Given the description of an element on the screen output the (x, y) to click on. 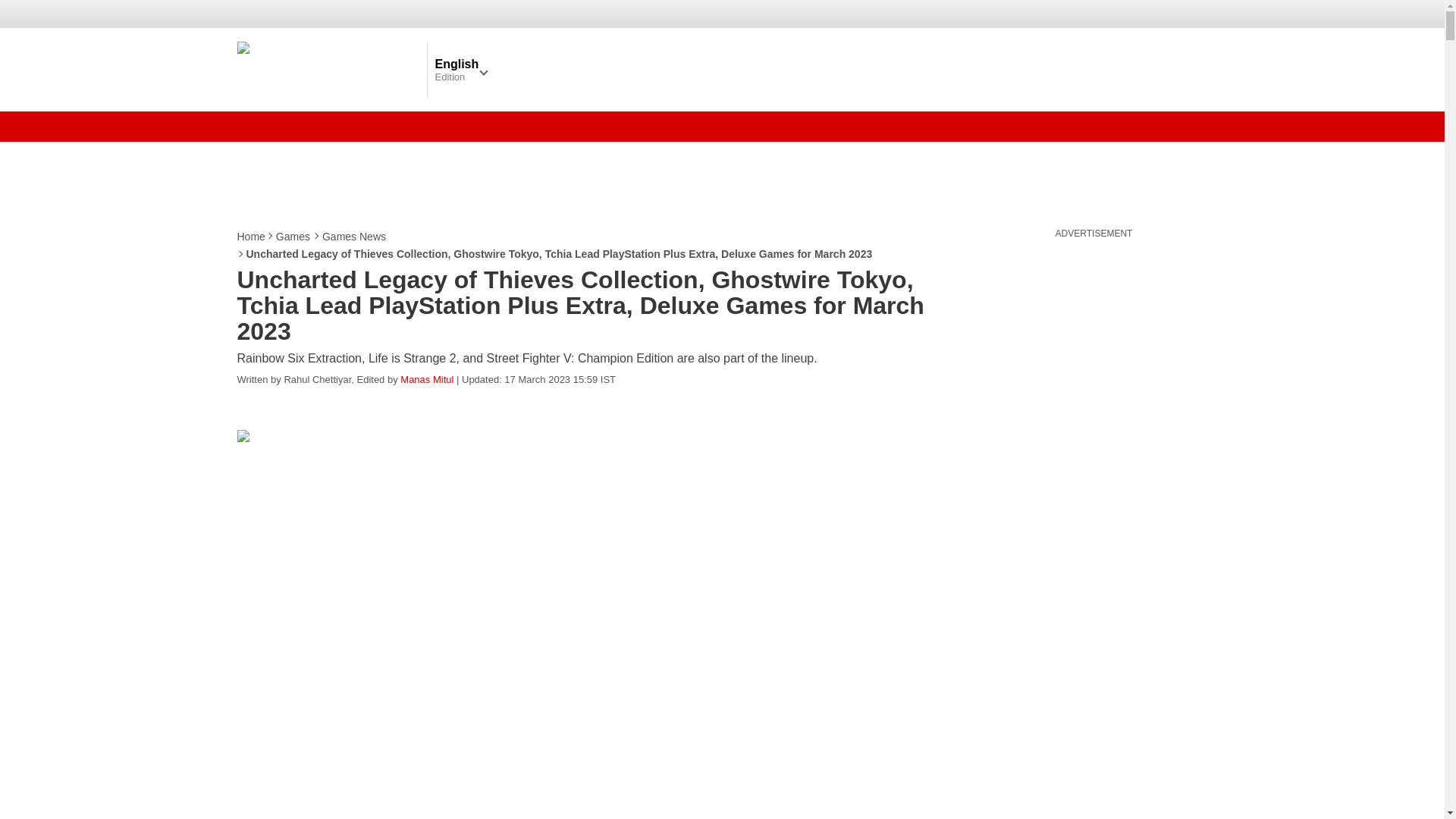
Home (250, 236)
Manas Mitul (426, 378)
Games (293, 236)
Gadgets 360 (327, 68)
Home (250, 236)
Games News (354, 236)
Games News (354, 236)
Games (293, 236)
